Given the description of an element on the screen output the (x, y) to click on. 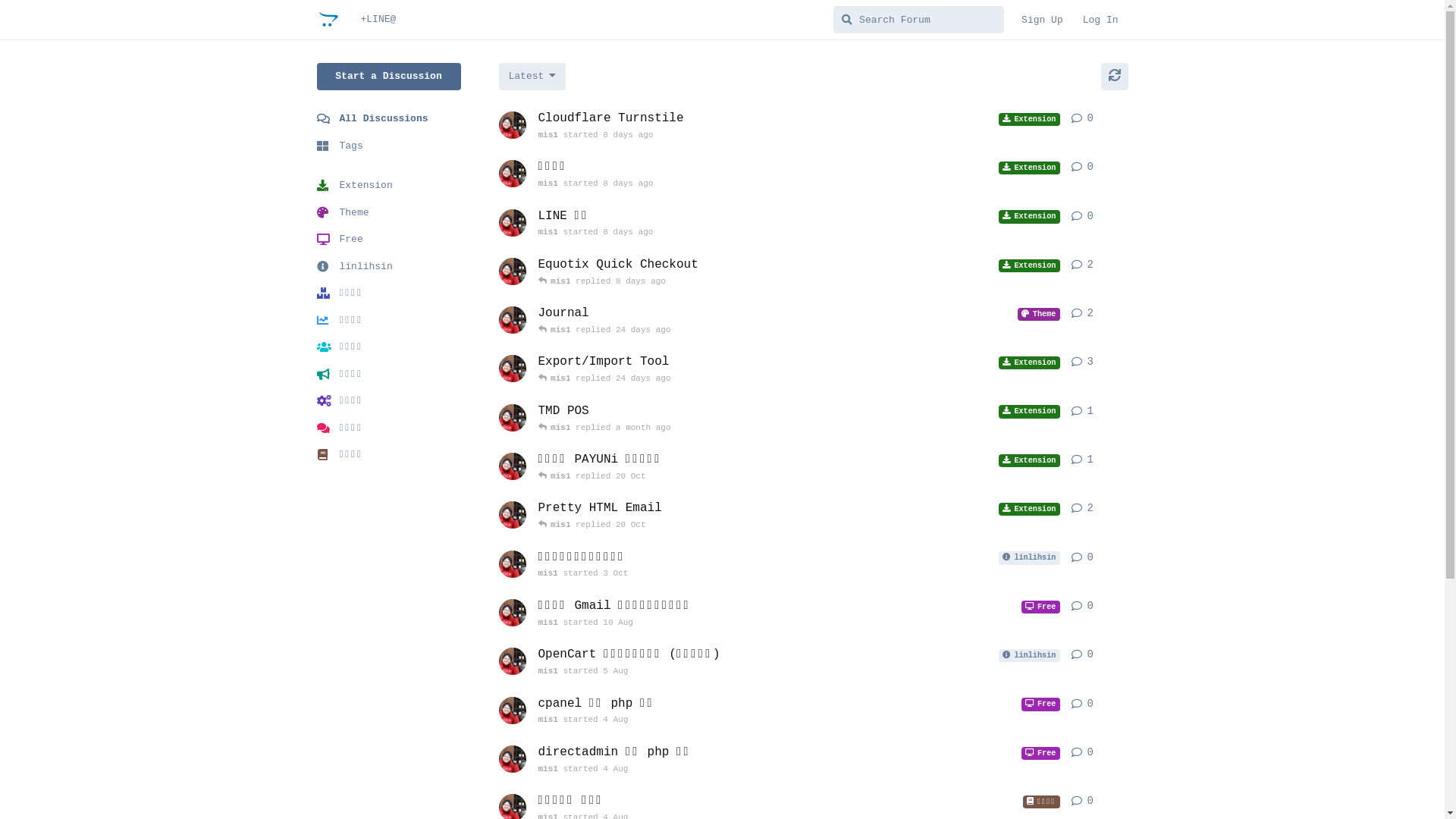
Extension Element type: text (388, 185)
+LINE@ Element type: text (377, 19)
Equotix Quick Checkout
Extension
mis1 replied 8 days ago Element type: text (799, 271)
Journal
Theme
mis1 replied 24 days ago Element type: text (799, 320)
Latest Element type: text (532, 76)
Pretty HTML Email
Extension
mis1 replied 20 Oct Element type: text (799, 515)
Tags Element type: text (388, 145)
Sign Up Element type: text (1042, 19)
Start a Discussion Element type: text (388, 76)
Free Element type: text (388, 239)
Cloudflare Turnstile
Extension
mis1 started 8 days ago Element type: text (799, 125)
Log In Element type: text (1100, 19)
Theme Element type: text (388, 211)
TMD POS
Extension
mis1 replied a month ago Element type: text (799, 418)
All Discussions Element type: text (388, 118)
Export/Import Tool
Extension
mis1 replied 24 days ago Element type: text (799, 369)
linlihsin Element type: text (388, 266)
